Given the description of an element on the screen output the (x, y) to click on. 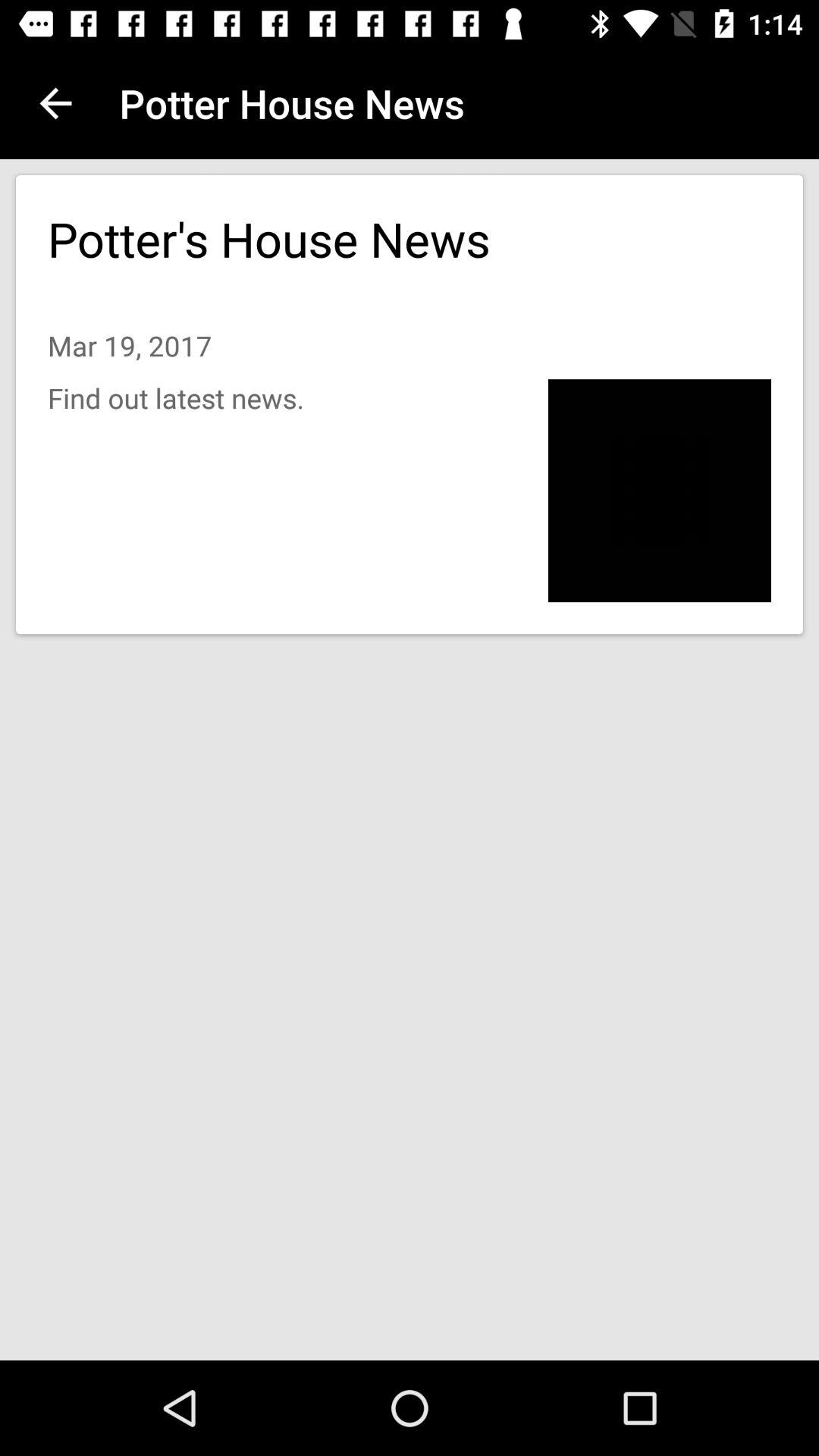
press the item next to the potter house news icon (55, 103)
